Given the description of an element on the screen output the (x, y) to click on. 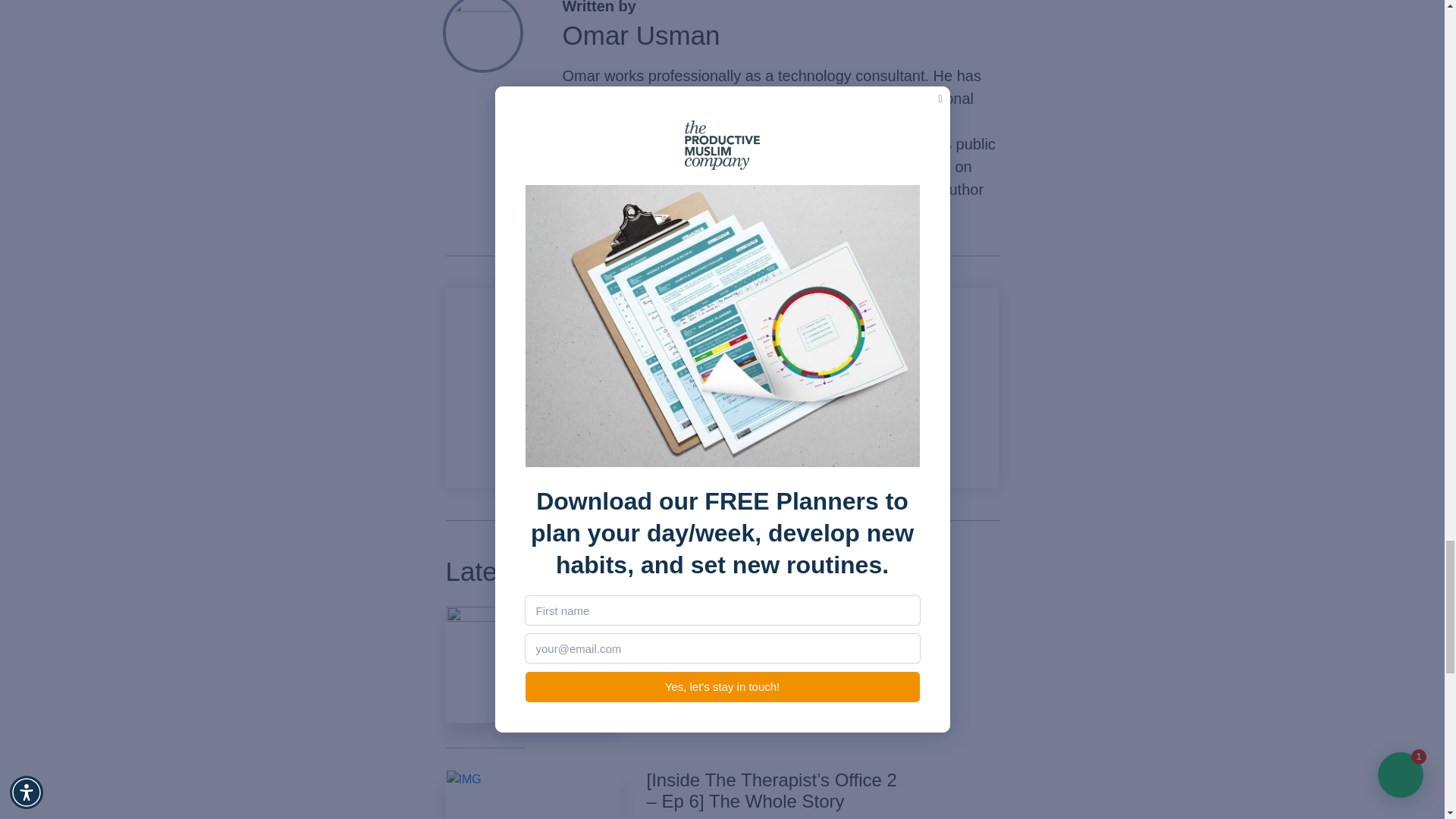
SUBSCRIBE (721, 437)
